Given the description of an element on the screen output the (x, y) to click on. 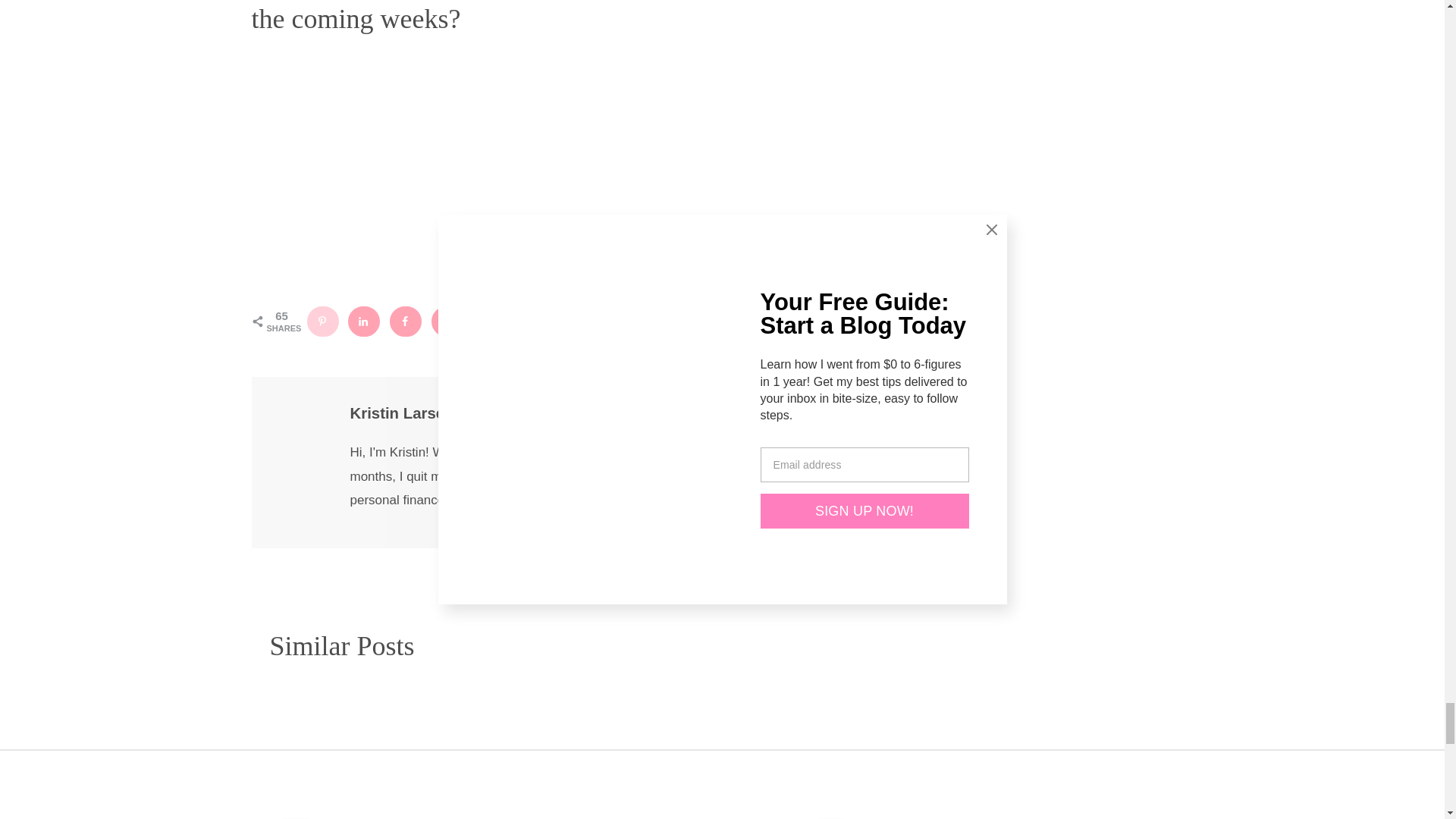
Share on Facebook (406, 321)
Posts by Kristin Larsen (402, 412)
Share on Threads (531, 321)
Share on LinkedIn (364, 321)
Save to Pinterest (322, 321)
Send over email (489, 321)
Share on X (447, 321)
